Given the description of an element on the screen output the (x, y) to click on. 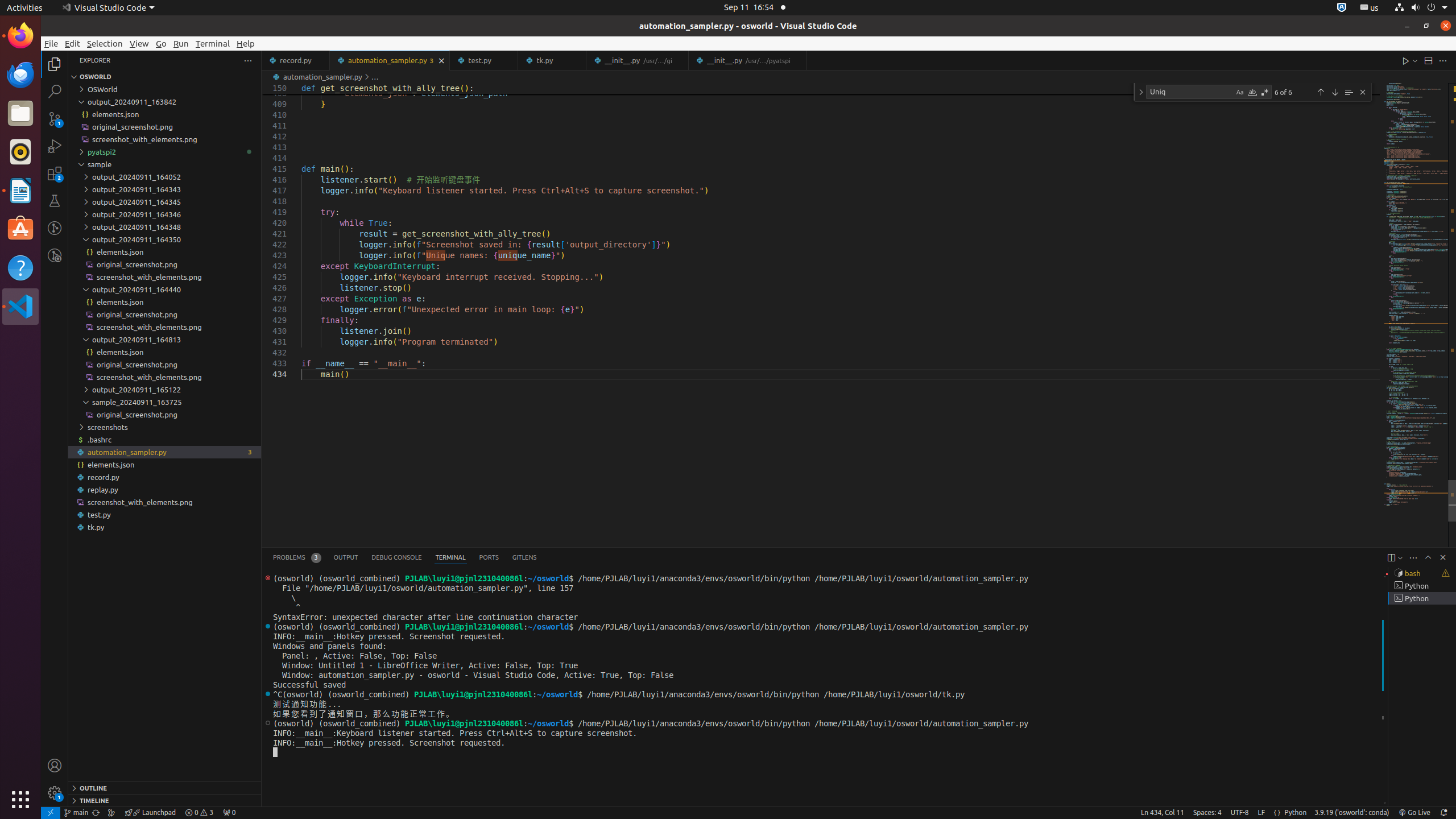
output_20240911_164345 Element type: tree-item (164, 201)
sample Element type: tree-item (164, 164)
rocket gitlens-unplug Launchpad, GitLens Launchpad ᴘʀᴇᴠɪᴇᴡ    &mdash;    [$(question)](command:gitlens.launchpad.indicator.action?%22info%22 "What is this?") [$(gear)](command:workbench.action.openSettings?%22gitlens.launchpad%22 "Settings")  |  [$(circle-slash) Hide](command:gitlens.launchpad.indicator.action?%22hide%22 "Hide") --- [Launchpad](command:gitlens.launchpad.indicator.action?%info%22 "Learn about Launchpad") organizes your pull requests into actionable groups to help you focus and keep your team unblocked. It's always accessible using the `GitLens: Open Launchpad` command from the Command Palette. --- [Connect an integration](command:gitlens.showLaunchpad?%7B%22source%22%3A%22launchpad-indicator%22%7D "Connect an integration") to get started. Element type: push-button (150, 812)
output_20240911_164350 Element type: tree-item (164, 239)
